Given the description of an element on the screen output the (x, y) to click on. 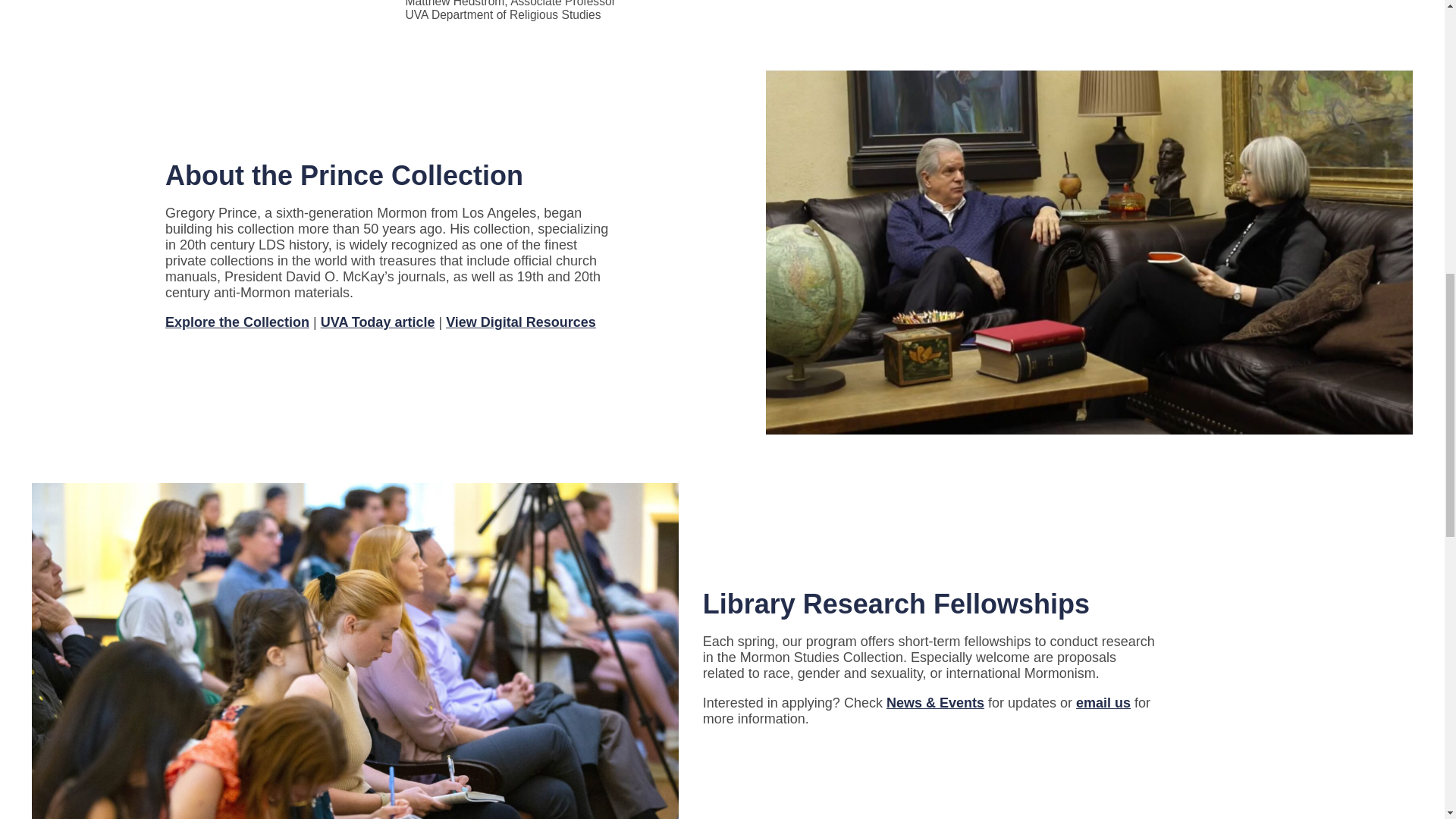
Explore the Collection (236, 322)
UVA Today article (377, 322)
View Digital Resources (520, 322)
email us (1103, 702)
